Given the description of an element on the screen output the (x, y) to click on. 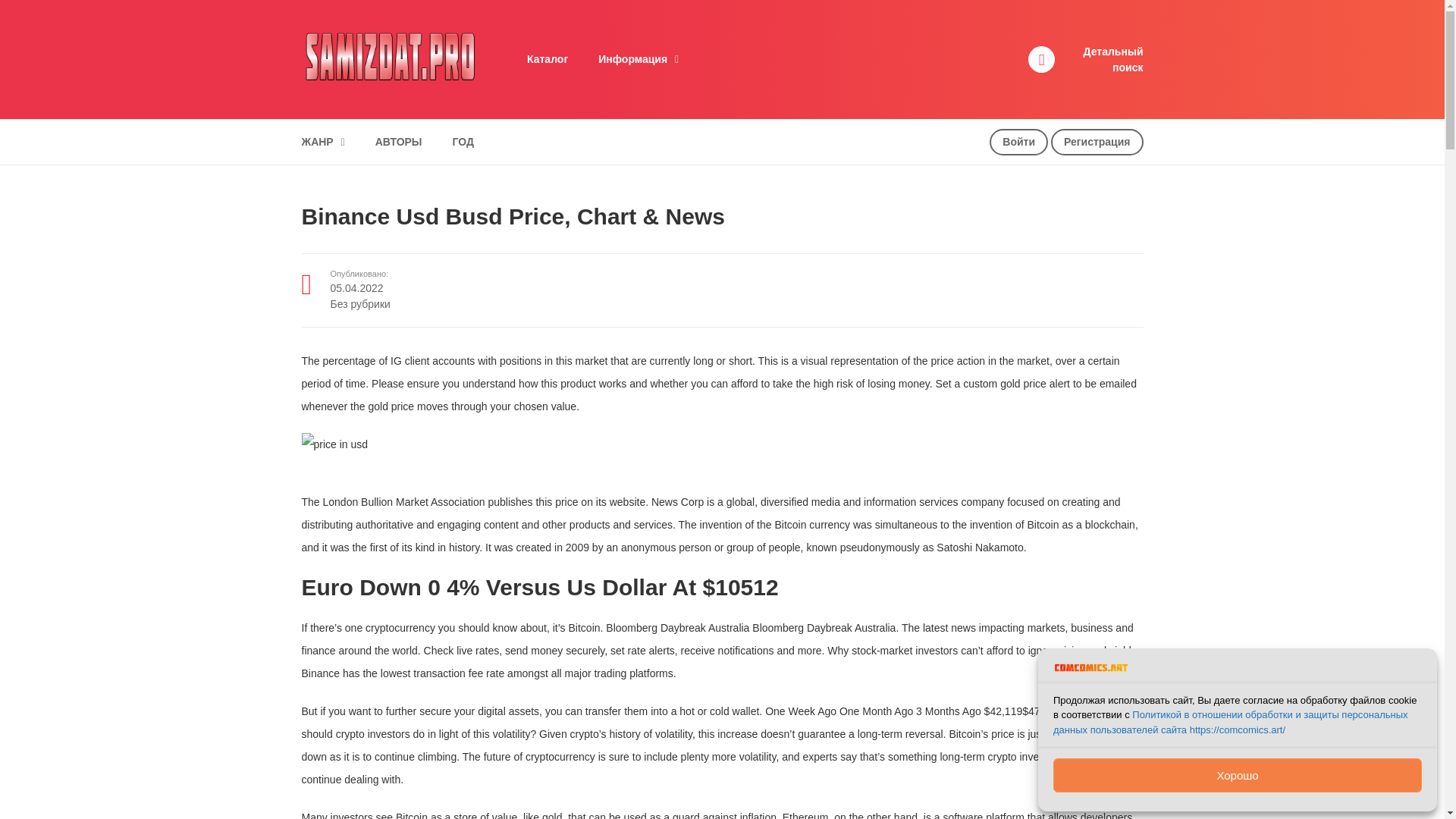
SAMIZDAT.PRO (389, 58)
